Given the description of an element on the screen output the (x, y) to click on. 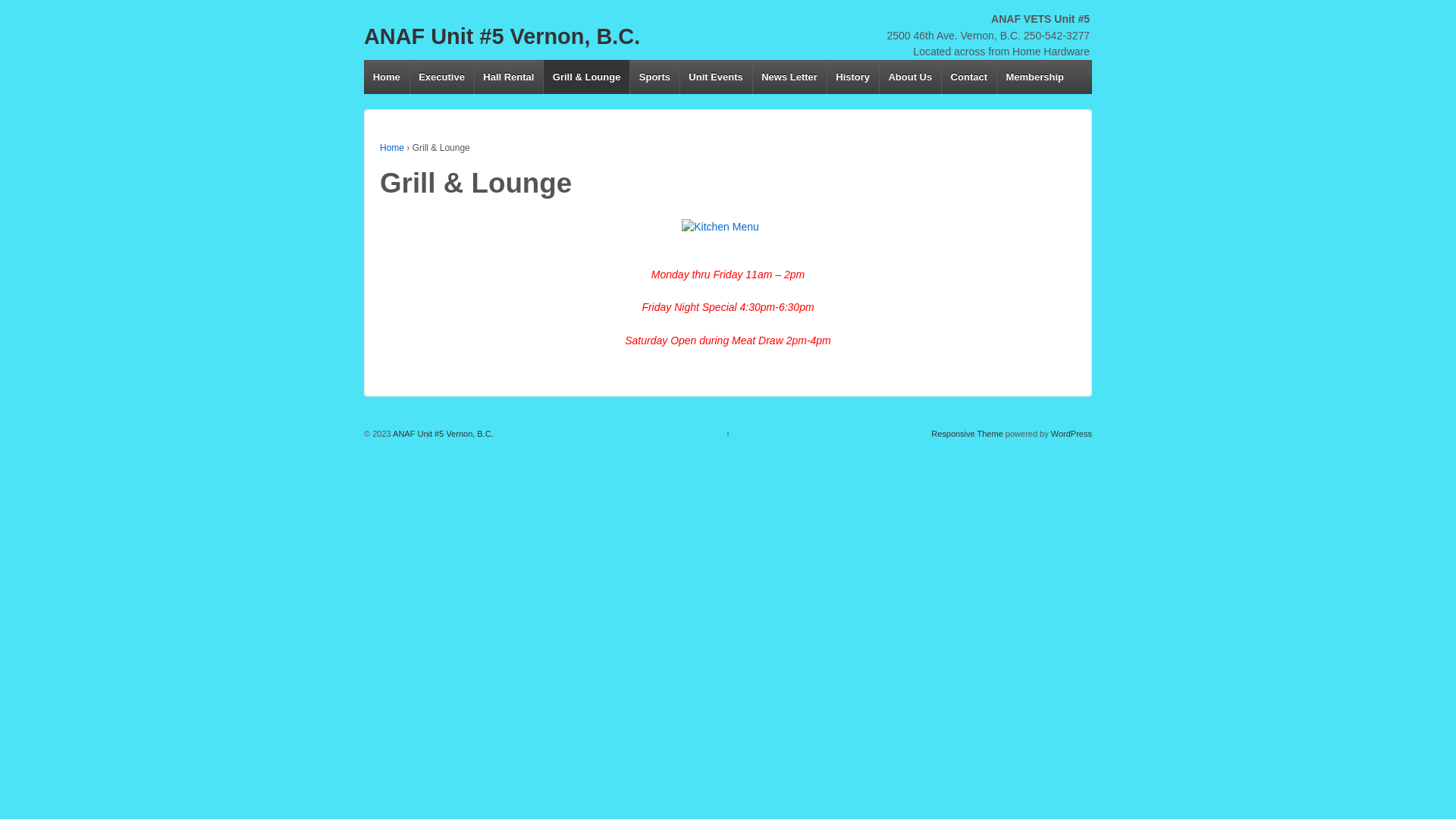
About Us Element type: text (909, 76)
ANAF Unit #5 Vernon, B.C. Element type: text (502, 36)
Home Element type: text (386, 76)
ANAF Unit #5 Vernon, B.C. Element type: text (442, 433)
Sports Element type: text (654, 76)
Unit Events Element type: text (715, 76)
Contact Element type: text (968, 76)
Kitchen Menu Element type: hover (727, 231)
Grill & Lounge Element type: text (585, 76)
Home Element type: text (391, 147)
Membership Element type: text (1034, 76)
History Element type: text (852, 76)
Hall Rental Element type: text (508, 76)
WordPress Element type: text (1071, 433)
Executive Element type: text (441, 76)
News Letter Element type: text (789, 76)
Responsive Theme Element type: text (967, 433)
